Given the description of an element on the screen output the (x, y) to click on. 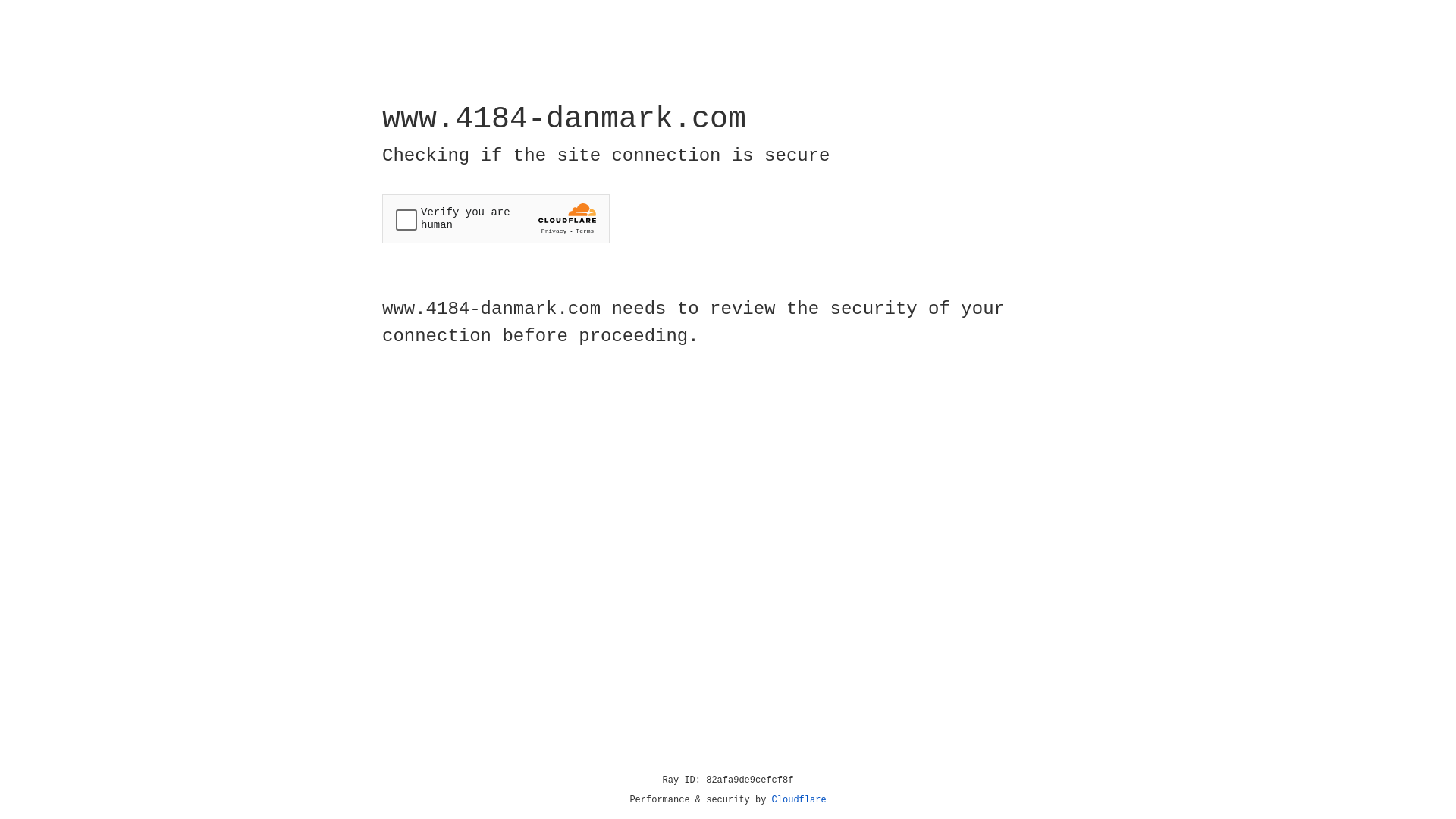
Cloudflare Element type: text (798, 799)
Widget containing a Cloudflare security challenge Element type: hover (495, 218)
